Given the description of an element on the screen output the (x, y) to click on. 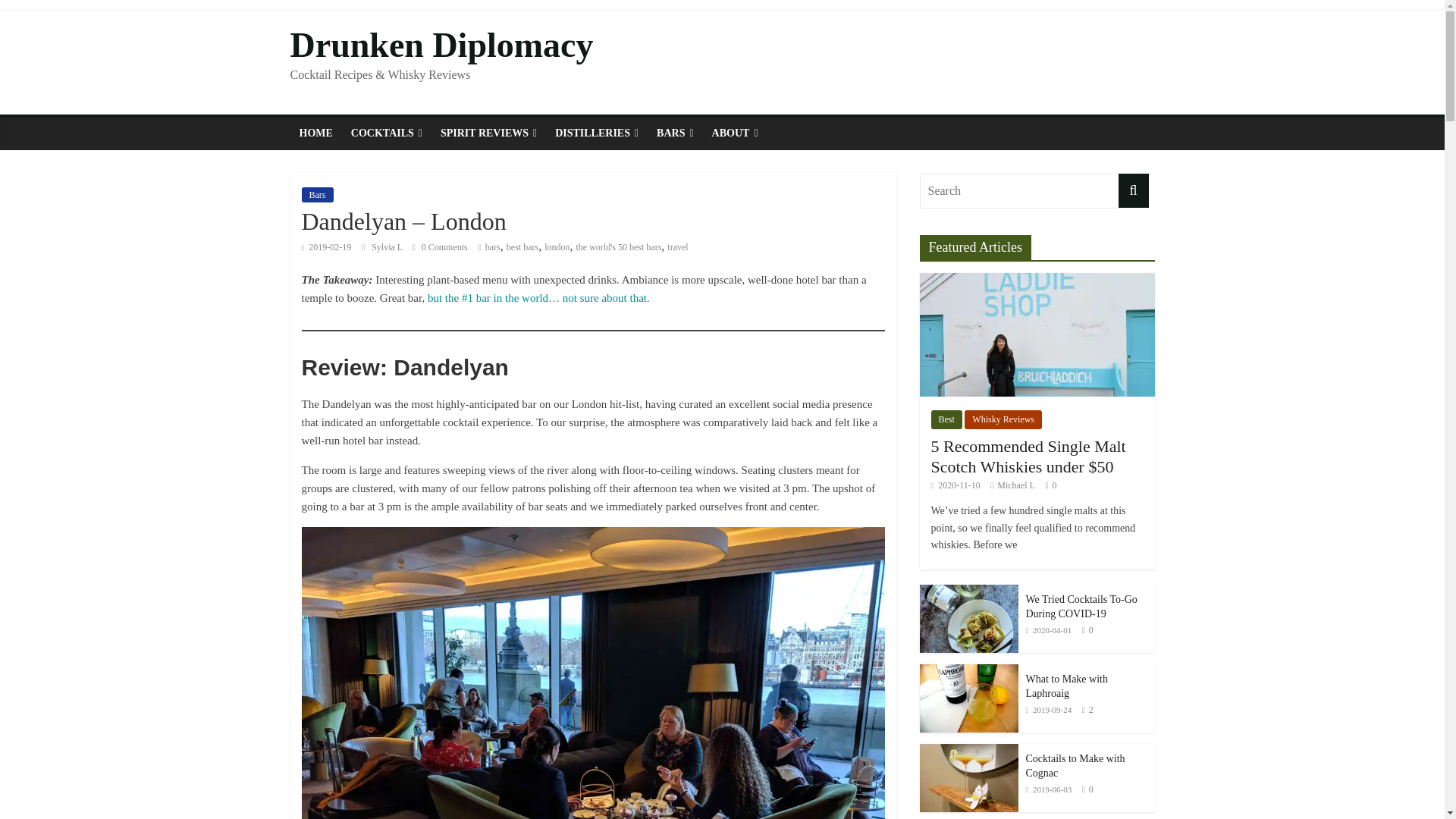
SPIRIT REVIEWS (488, 133)
ABOUT (735, 133)
Sylvia L (387, 246)
travel (676, 246)
10:50 am (955, 484)
best bars (522, 246)
DISTILLERIES (596, 133)
We Tried Cocktails To-Go During COVID-19 (1081, 606)
What to Make with Laphroaig (967, 698)
6:55 pm (326, 246)
What to Make with Laphroaig (1065, 686)
HOME (314, 133)
2019-02-19 (326, 246)
8:21 pm (1048, 629)
Bars (317, 194)
